Given the description of an element on the screen output the (x, y) to click on. 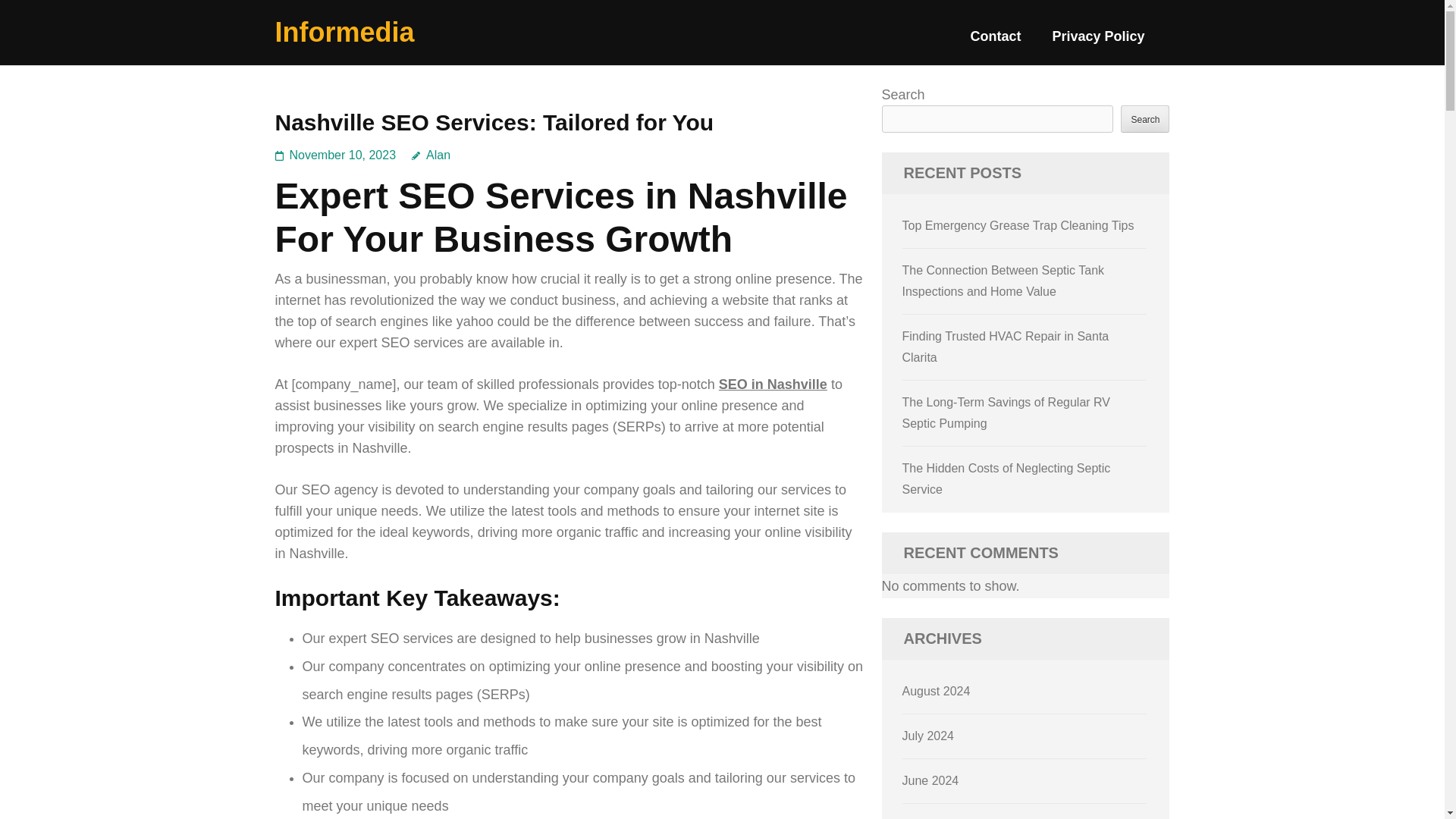
The Hidden Costs of Neglecting Septic Service (1006, 478)
Alan (430, 154)
Search (1145, 118)
November 10, 2023 (342, 154)
July 2024 (928, 735)
Contact (994, 42)
Top Emergency Grease Trap Cleaning Tips (1018, 225)
August 2024 (936, 690)
Informedia (344, 31)
The Long-Term Savings of Regular RV Septic Pumping (1006, 412)
June 2024 (930, 780)
Privacy Policy (1097, 42)
Finding Trusted HVAC Repair in Santa Clarita (1005, 346)
SEO in Nashville (773, 384)
